Given the description of an element on the screen output the (x, y) to click on. 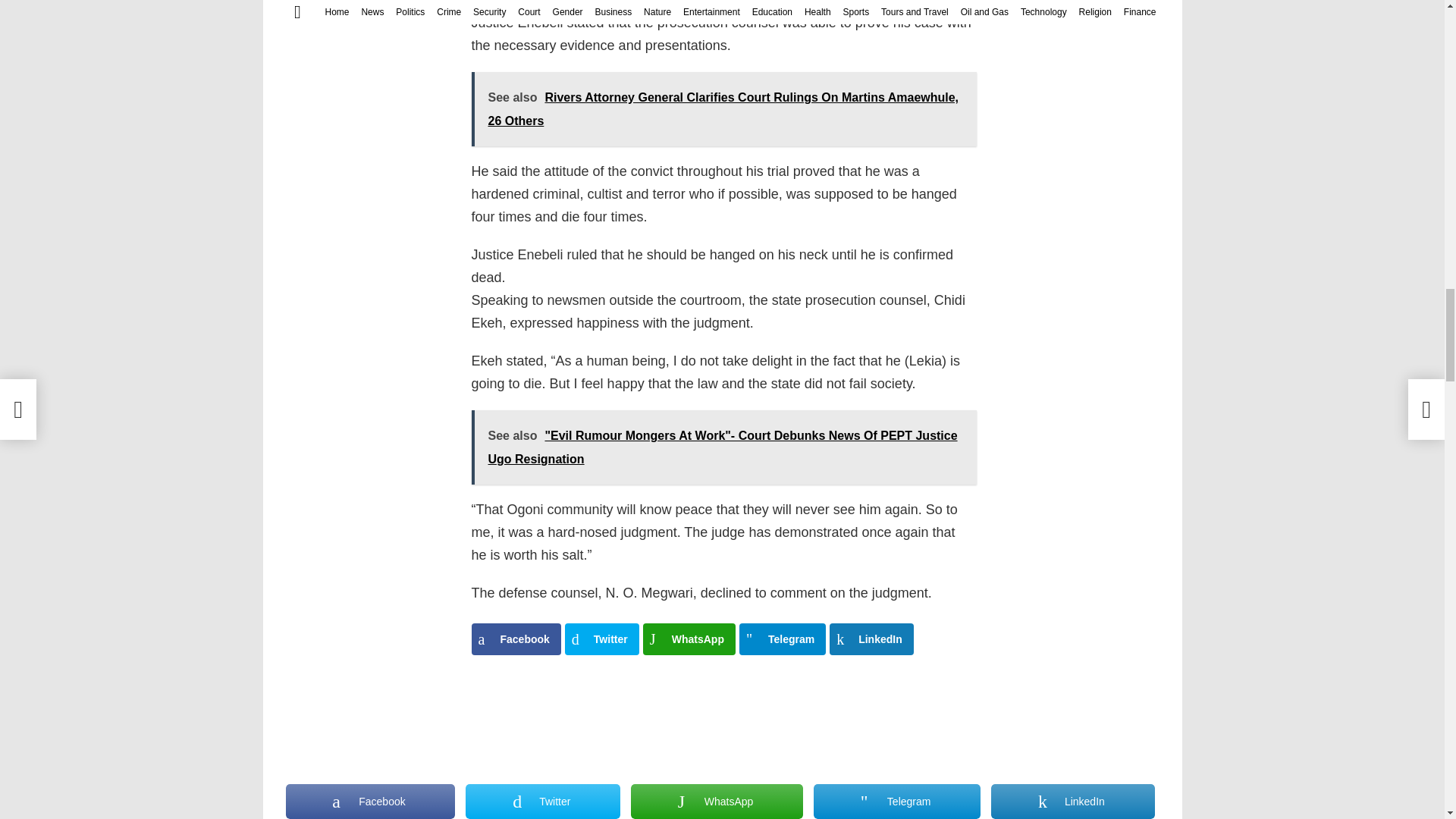
Share on Facebook (515, 639)
